Given the description of an element on the screen output the (x, y) to click on. 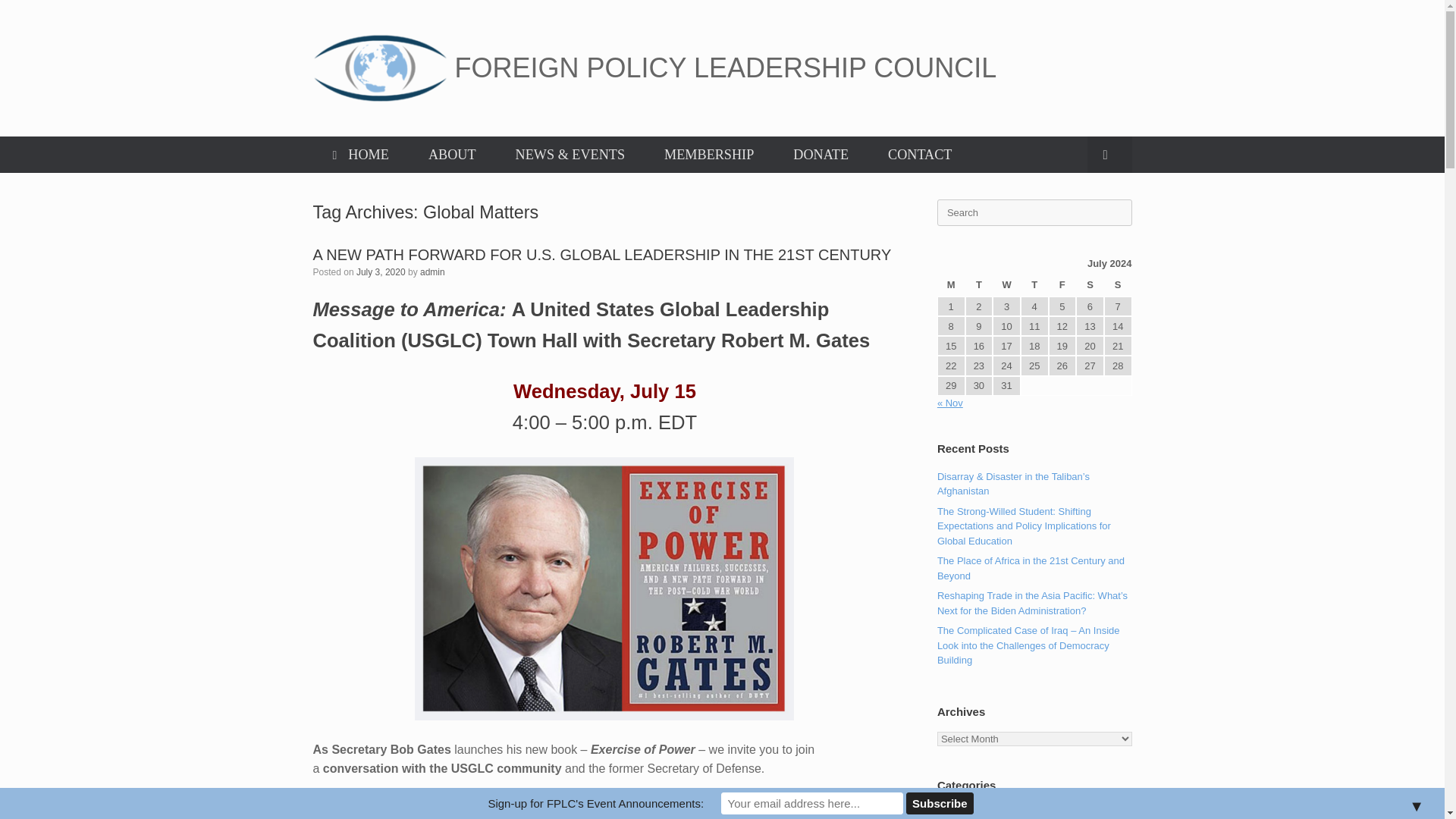
The Place of Africa in the 21st Century and Beyond (1030, 568)
FOREIGN POLICY LEADERSHIP COUNCIL (654, 68)
July 3, 2020 (381, 271)
CONTACT (919, 154)
Subscribe (939, 803)
Business (956, 812)
DONATE (820, 154)
ABOUT (452, 154)
MEMBERSHIP (709, 154)
HOME (360, 154)
8:34 pm (381, 271)
FOREIGN POLICY LEADERSHIP COUNCIL (654, 68)
